Given the description of an element on the screen output the (x, y) to click on. 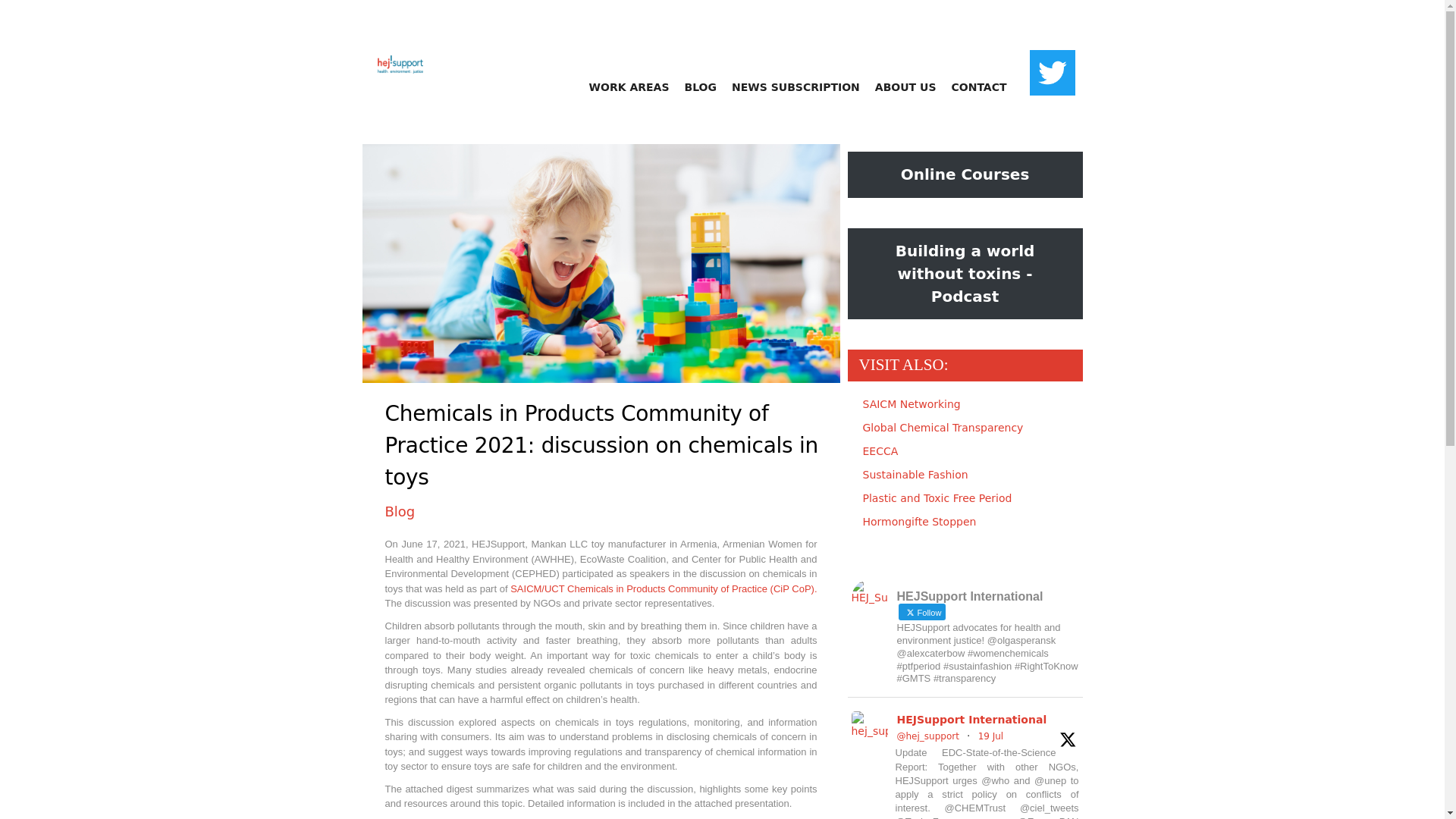
Building a world without toxins - Podcast (965, 274)
ABOUT US (905, 86)
HEJSupport International (971, 719)
EECCA (880, 451)
SAICM Networking (911, 404)
Online Courses (965, 174)
NEWS SUBSCRIPTION (795, 86)
Hormongifte Stoppen (919, 521)
Sustainable Fashion (915, 474)
HEJ-Support (392, 55)
